Given the description of an element on the screen output the (x, y) to click on. 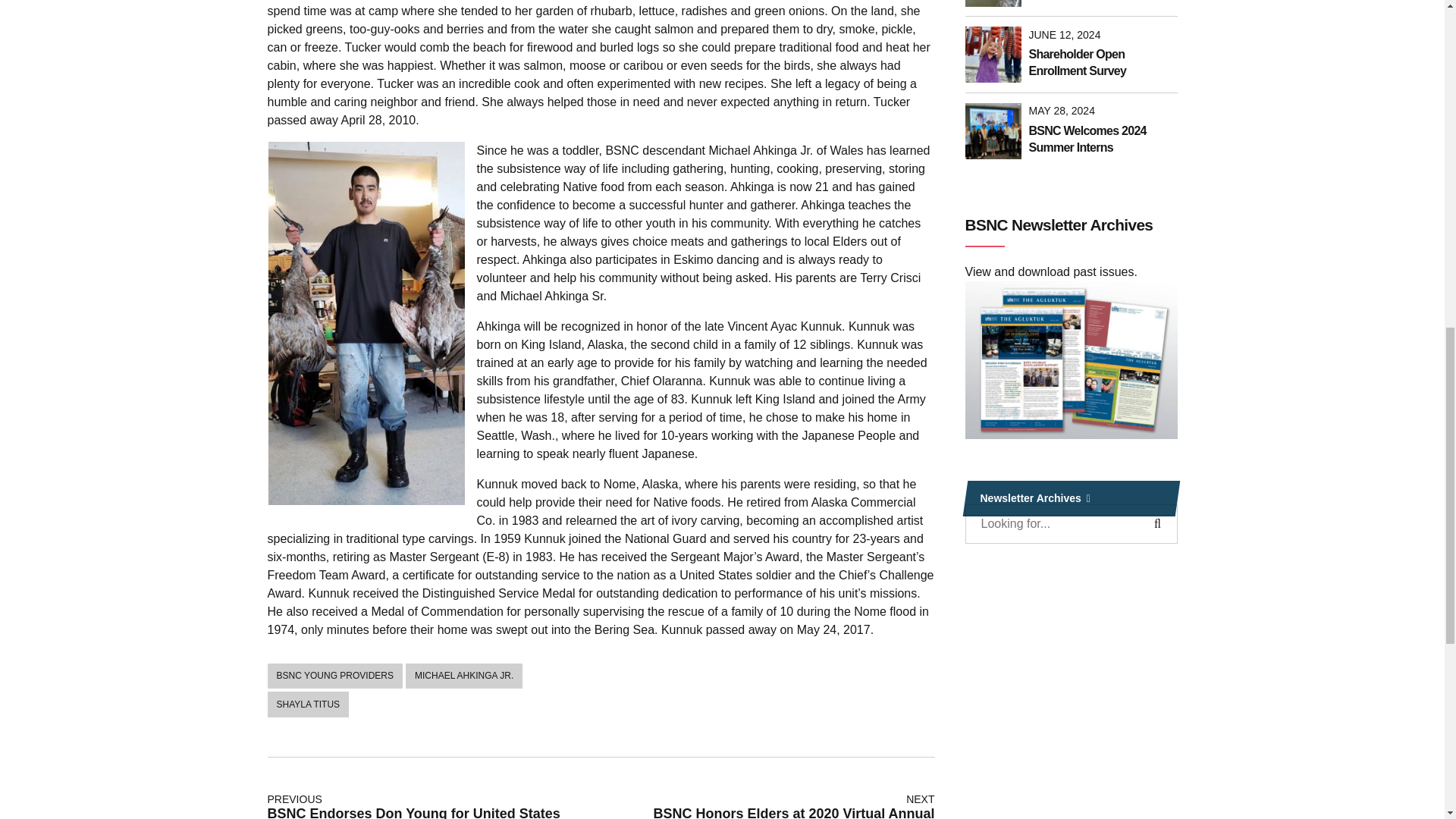
BSNC Welcomes 2024 Summer Interns (1101, 139)
Newsletter Archives (1069, 498)
Shareholder Open Enrollment Survey (1101, 62)
